Given the description of an element on the screen output the (x, y) to click on. 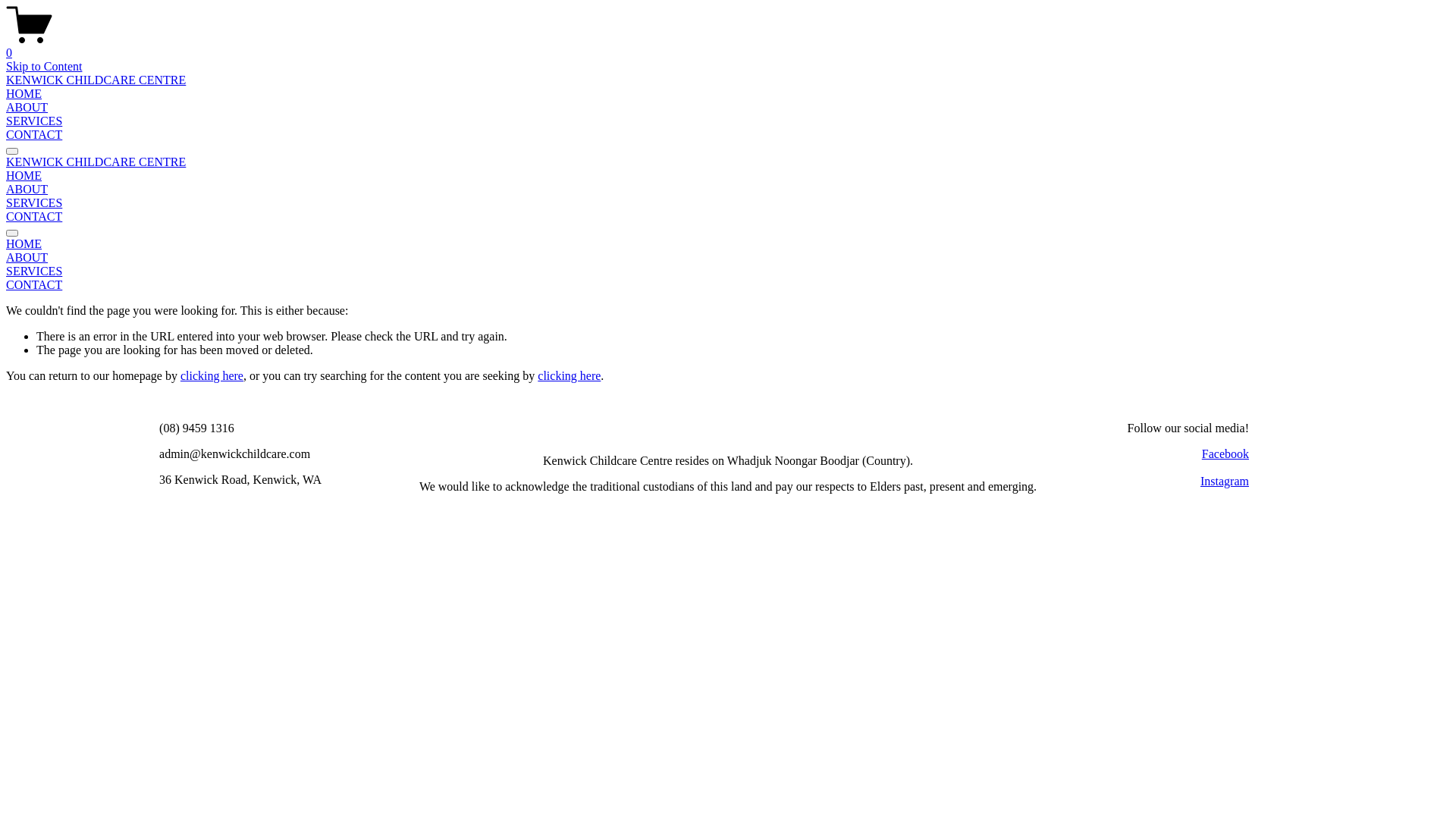
ABOUT Element type: text (727, 257)
ABOUT Element type: text (26, 188)
HOME Element type: text (23, 93)
Facebook Element type: text (1224, 453)
CONTACT Element type: text (727, 284)
KENWICK CHILDCARE CENTRE Element type: text (95, 79)
clicking here Element type: text (211, 375)
ABOUT Element type: text (26, 106)
CONTACT Element type: text (34, 134)
CONTACT Element type: text (34, 216)
Skip to Content Element type: text (43, 65)
HOME Element type: text (727, 244)
HOME Element type: text (23, 175)
Instagram Element type: text (1224, 480)
SERVICES Element type: text (34, 202)
KENWICK CHILDCARE CENTRE Element type: text (95, 161)
0 Element type: text (727, 45)
SERVICES Element type: text (727, 271)
clicking here Element type: text (568, 375)
SERVICES Element type: text (34, 120)
